Given the description of an element on the screen output the (x, y) to click on. 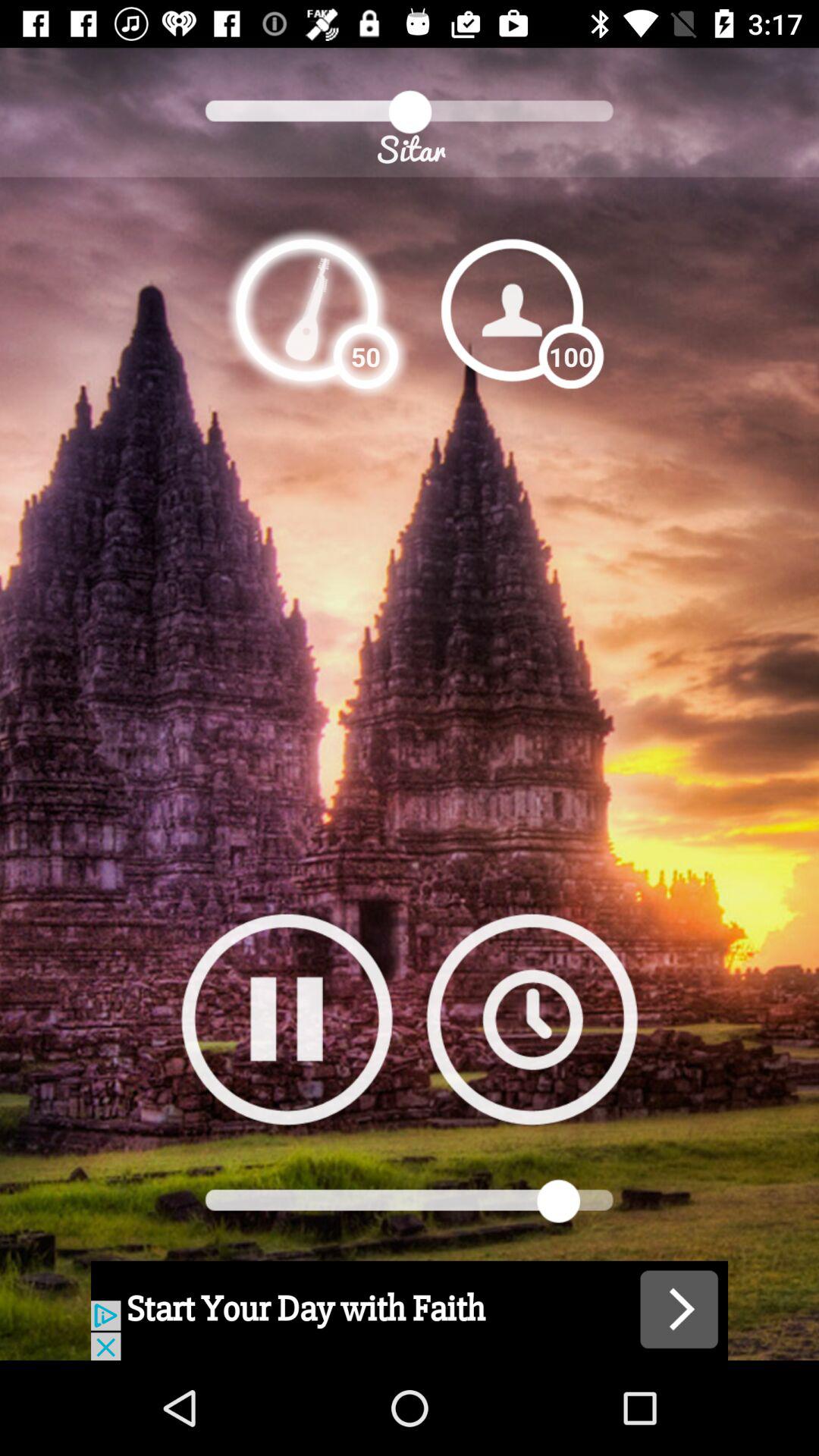
listen to song (306, 309)
